Given the description of an element on the screen output the (x, y) to click on. 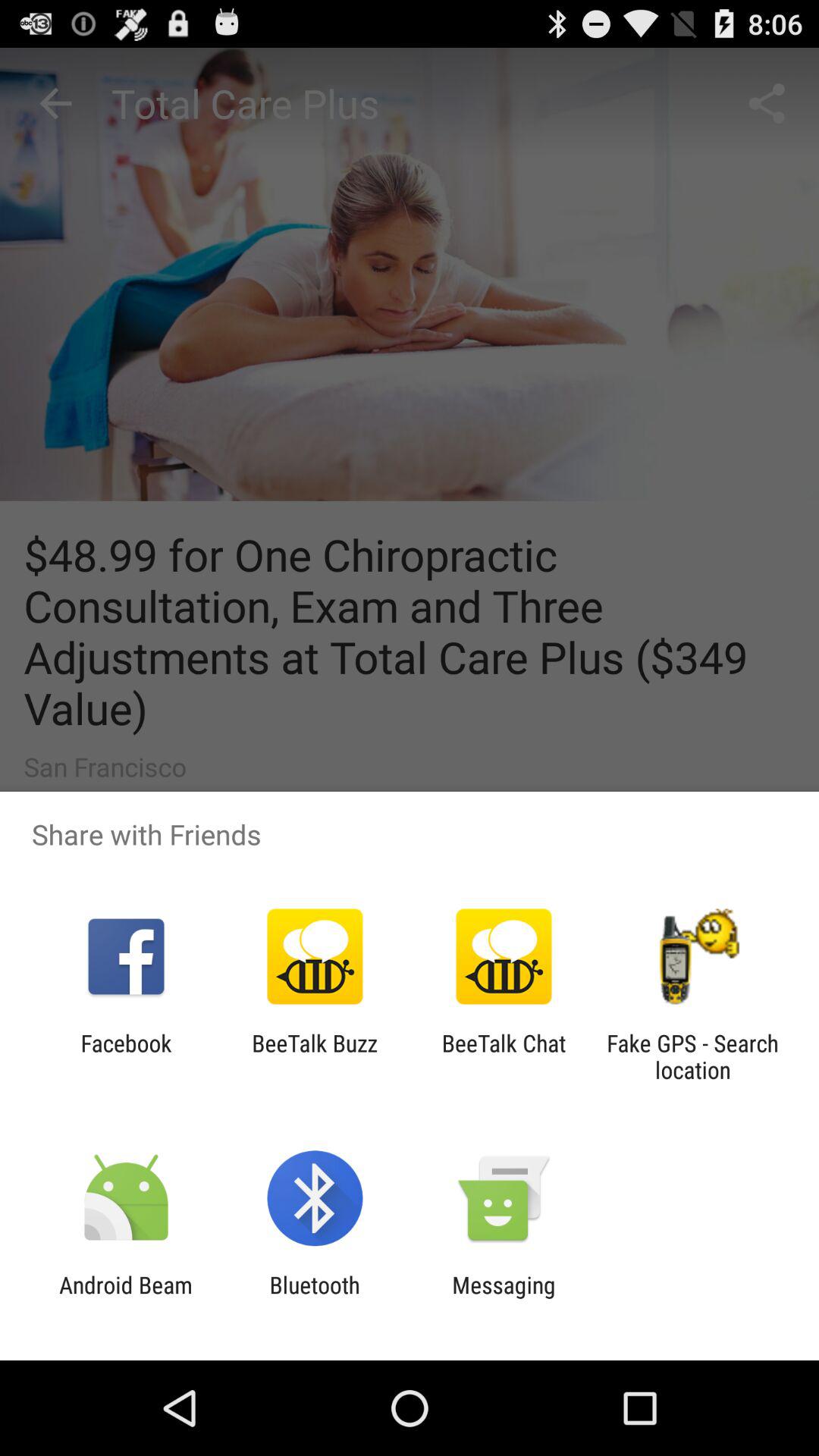
launch item to the left of beetalk chat item (314, 1056)
